Given the description of an element on the screen output the (x, y) to click on. 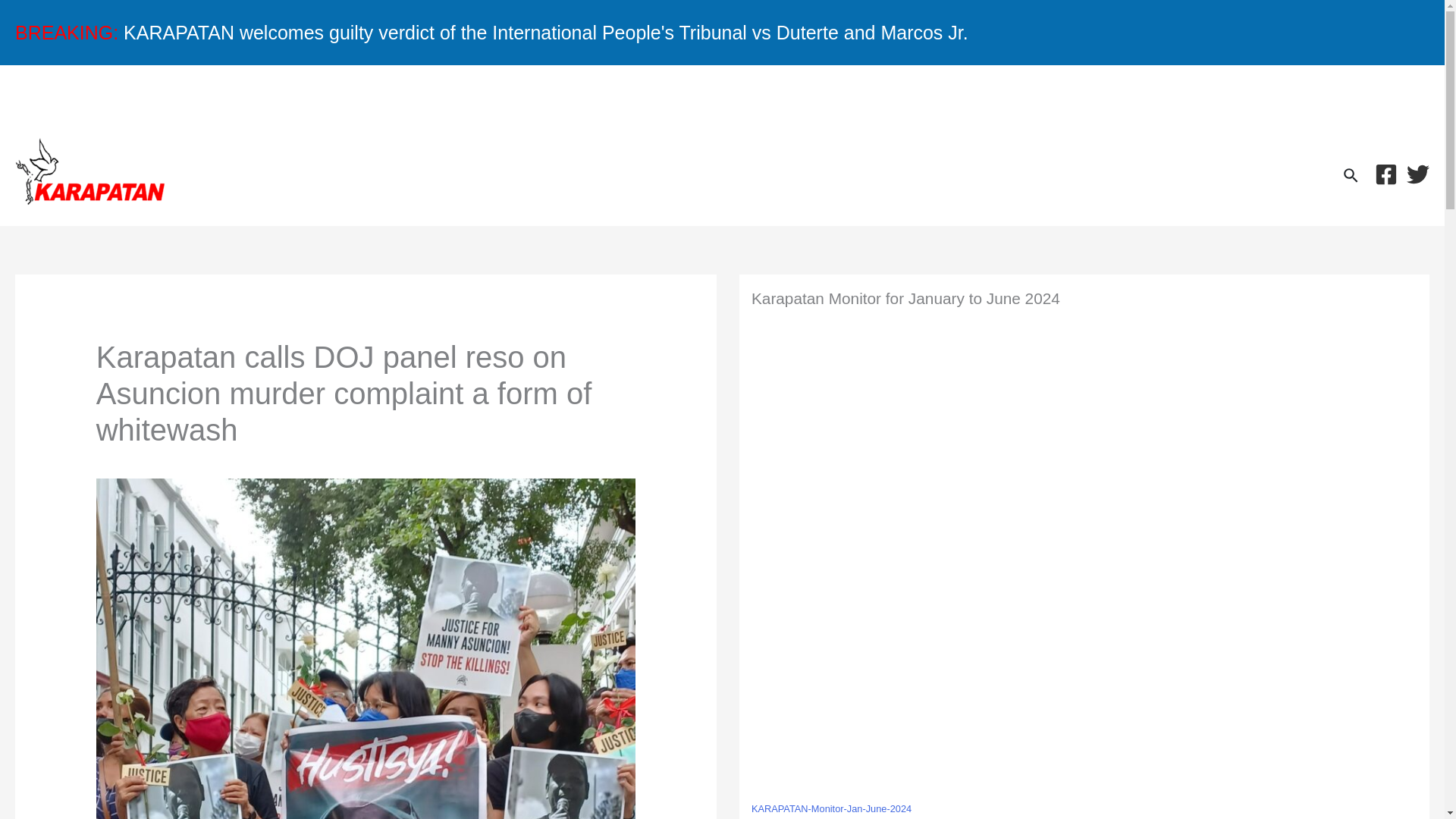
NEWS (90, 95)
CAMPAIGNS (260, 95)
KARAPATAN-Monitor-Jan-June-2024 (831, 809)
FEATURES (875, 95)
APPEALS (700, 95)
STATS AND RESOURCES (484, 95)
ABOUT US (1340, 95)
INTERNATIONAL SOLIDARITY (1108, 95)
